Given the description of an element on the screen output the (x, y) to click on. 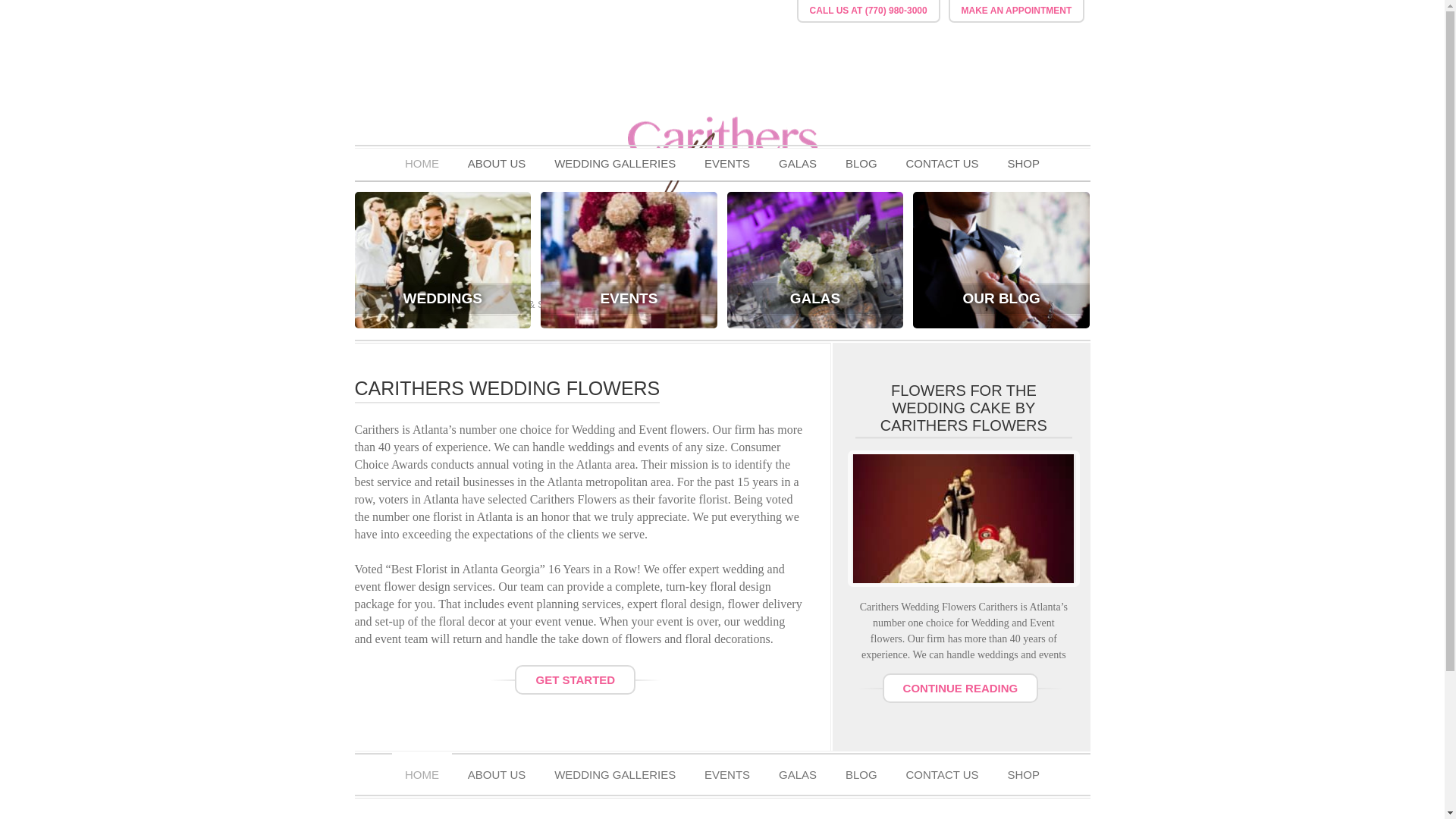
EVENTS (726, 164)
WEDDING GALLERIES (614, 164)
SHOP (1023, 164)
CONTINUE READING (960, 687)
BLOG (860, 771)
HOME (421, 771)
GALAS (797, 164)
WEDDING GALLERIES (614, 771)
FLOWERS FOR THE WEDDING CAKE BY CARITHERS FLOWERS (963, 408)
Carithers Wedding Flowers (722, 221)
